Given the description of an element on the screen output the (x, y) to click on. 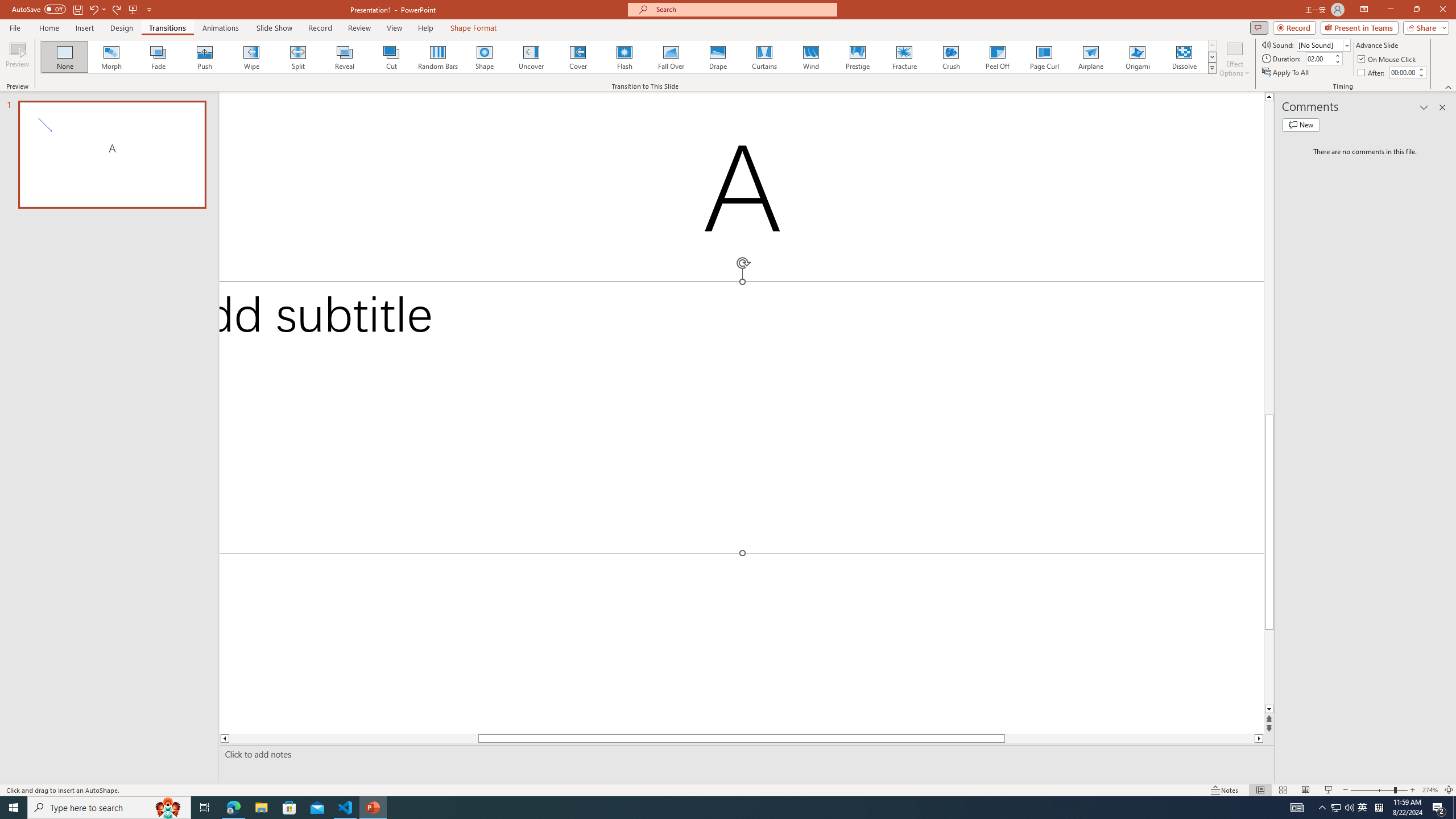
Wind (810, 56)
